Given the description of an element on the screen output the (x, y) to click on. 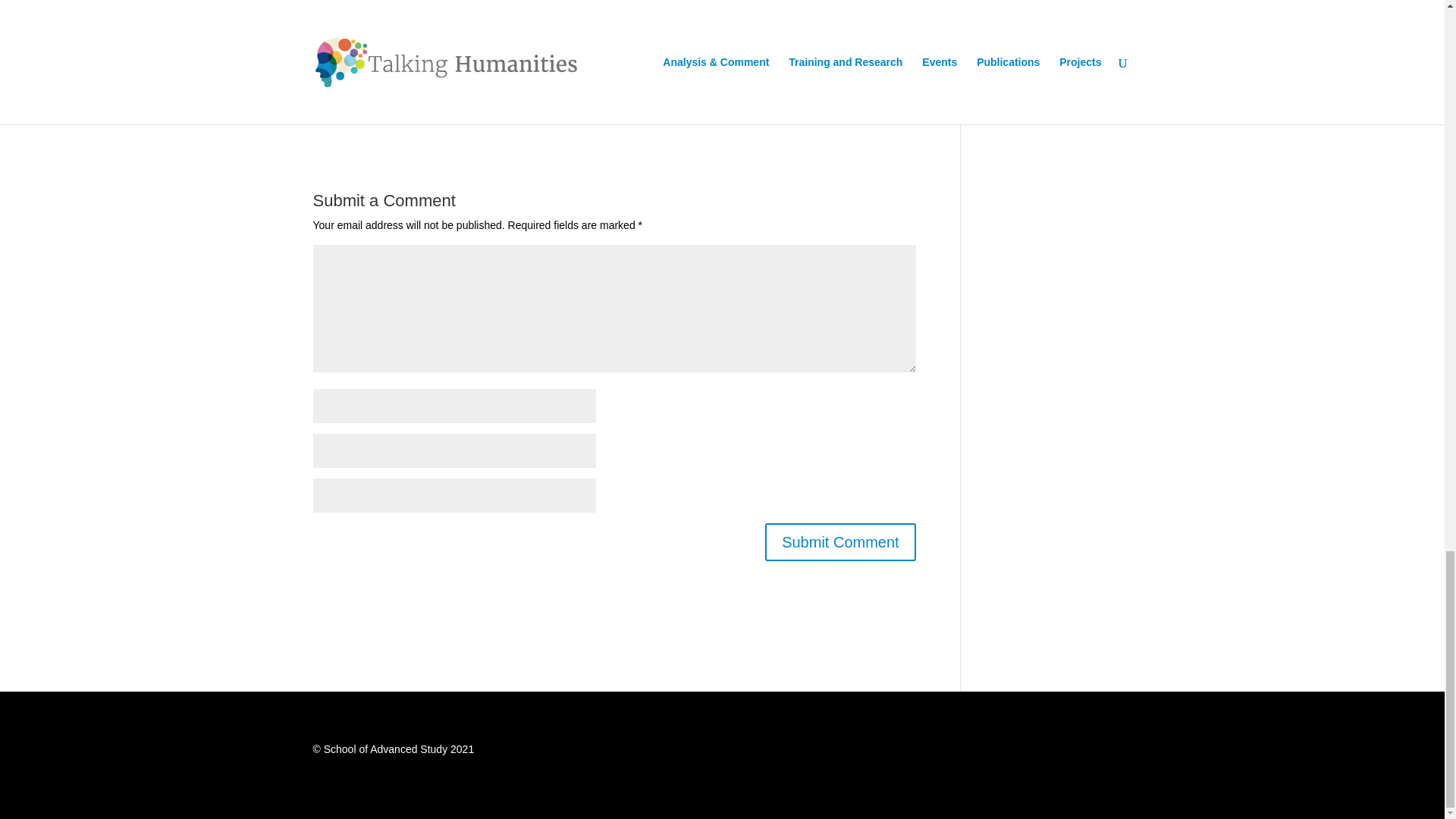
Dr Sarah Stockwell (361, 30)
Submit Comment (840, 542)
Submit Comment (840, 542)
